Given the description of an element on the screen output the (x, y) to click on. 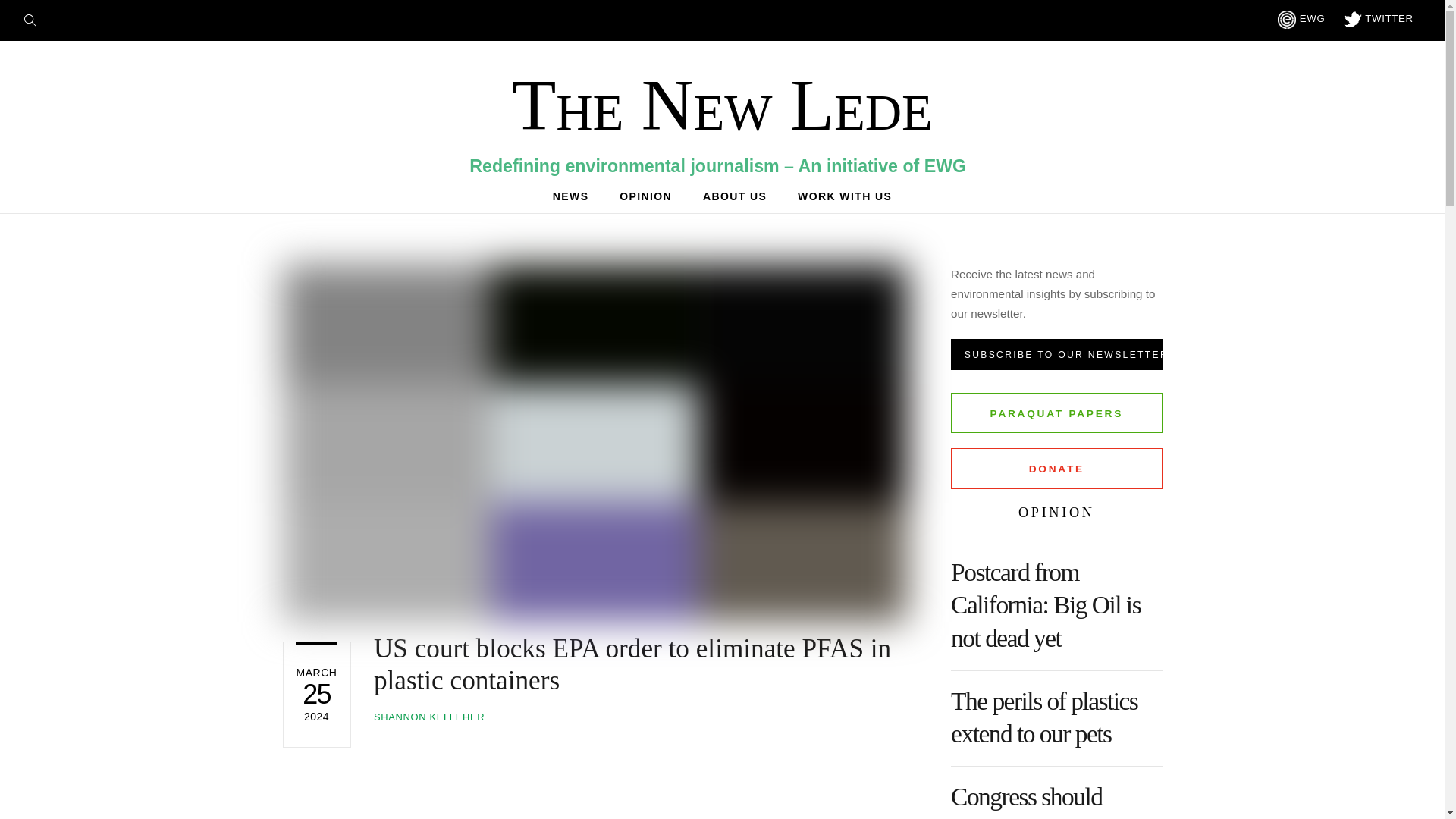
Postcard from California: Big Oil is not dead yet (721, 196)
WORK WITH US (1045, 604)
TWITTER (845, 196)
Subscribe to our newsletter (1378, 18)
OPINION (1055, 354)
kelly-sikkema-DJcVOQUZxF0-unsplash (645, 196)
PARAQUAT PAPERS (35, 18)
Subscribe to our newsletter (1055, 413)
ABOUT US (1055, 354)
NEWS (735, 196)
The perils of plastics extend to our pets (570, 196)
The New Lede (1043, 717)
